Given the description of an element on the screen output the (x, y) to click on. 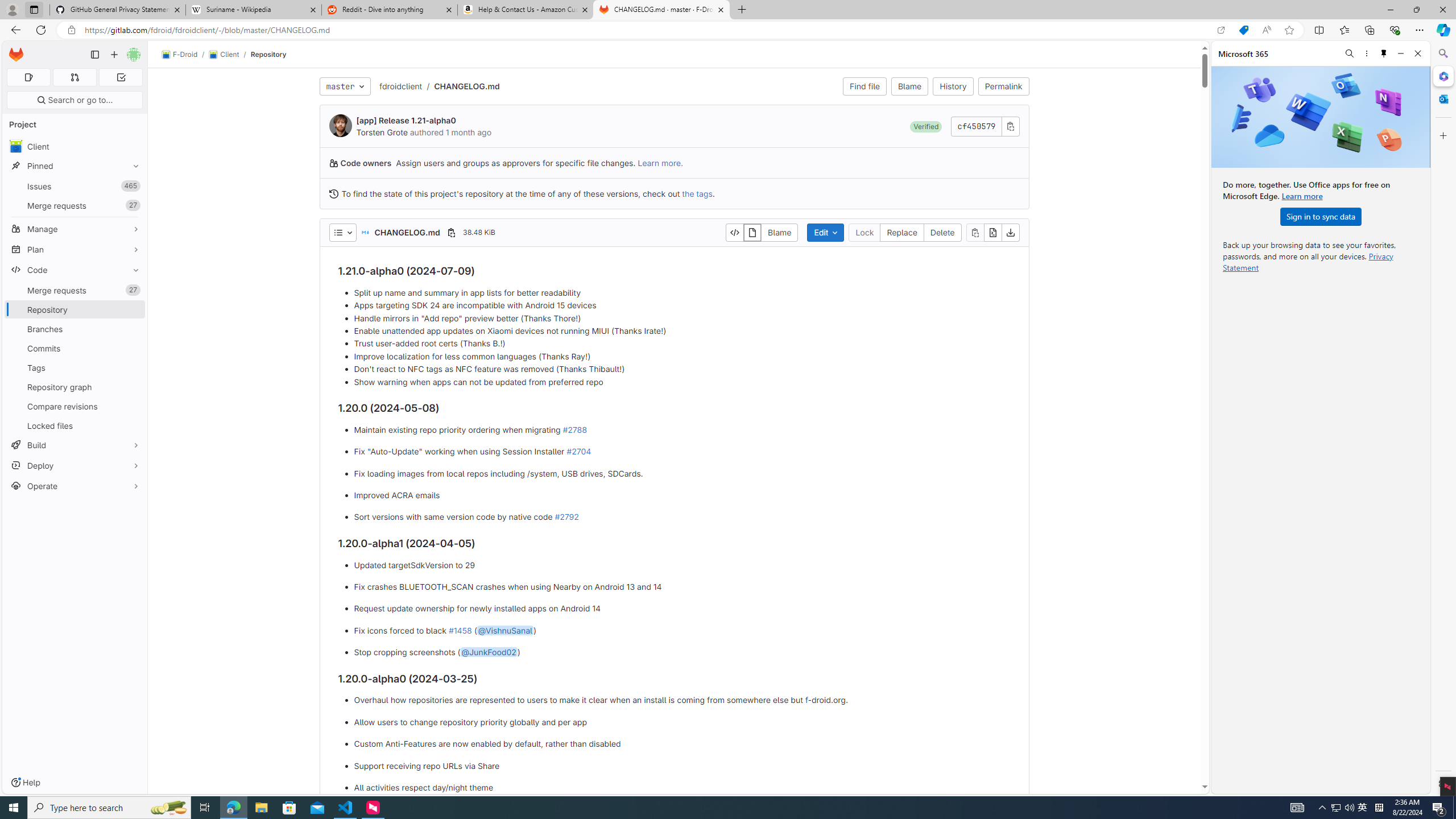
Sort versions with same version code by native code #2792 (681, 517)
Edit (825, 232)
Merge requests27 (74, 289)
Pinned (74, 165)
History (953, 85)
Blame (909, 85)
Repository (268, 53)
Branches (74, 328)
AutomationID: dropdown-toggle-btn-50 (342, 232)
Pin Compare revisions (132, 406)
Torsten Grote's avatar (340, 125)
